Given the description of an element on the screen output the (x, y) to click on. 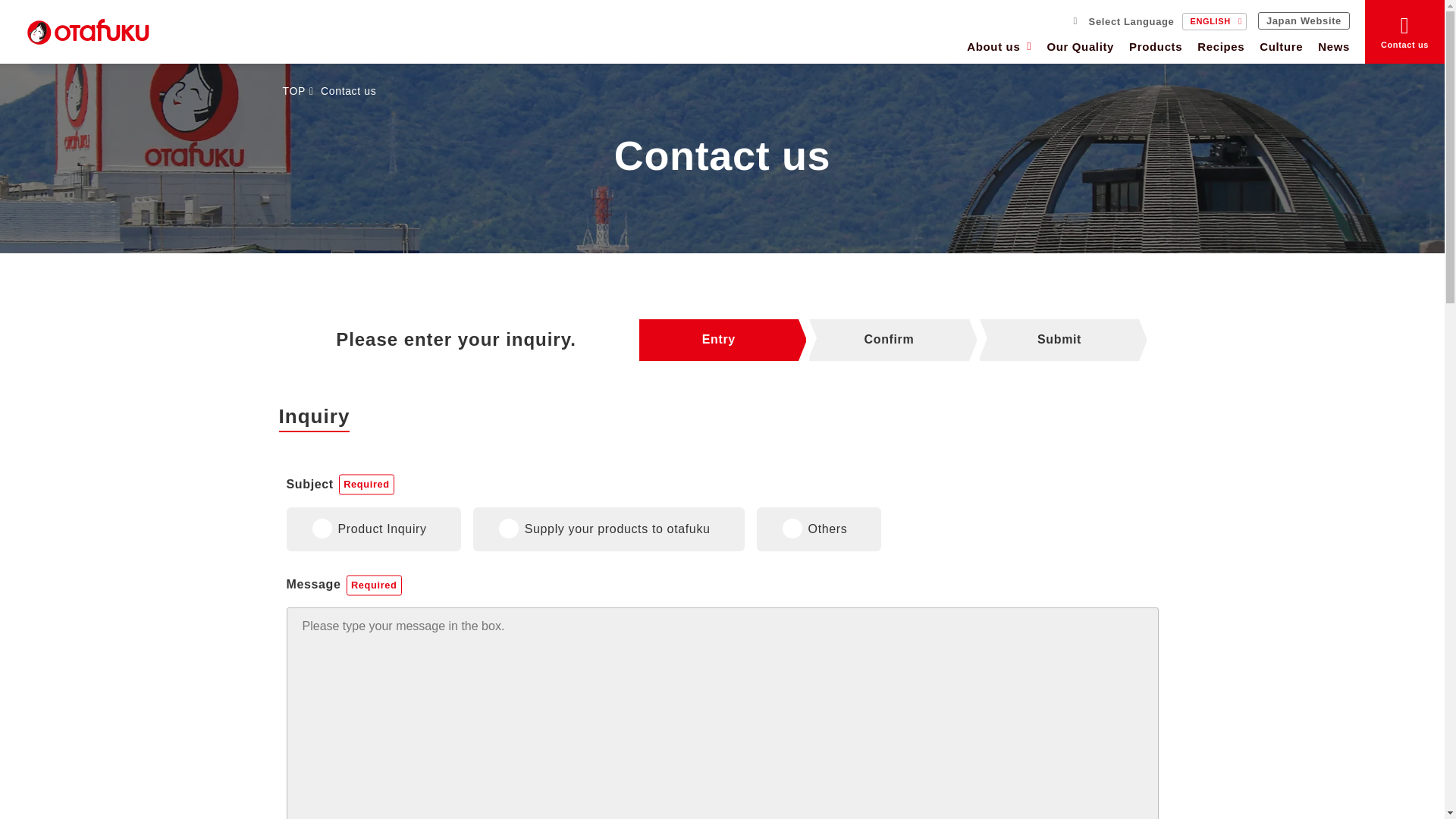
News (1329, 48)
Products (1155, 48)
Culture (1281, 48)
Recipes (1220, 48)
TOP (293, 91)
Japan Website (1303, 20)
ENGLISH (1214, 21)
About us (994, 48)
Our Quality (1080, 48)
